Given the description of an element on the screen output the (x, y) to click on. 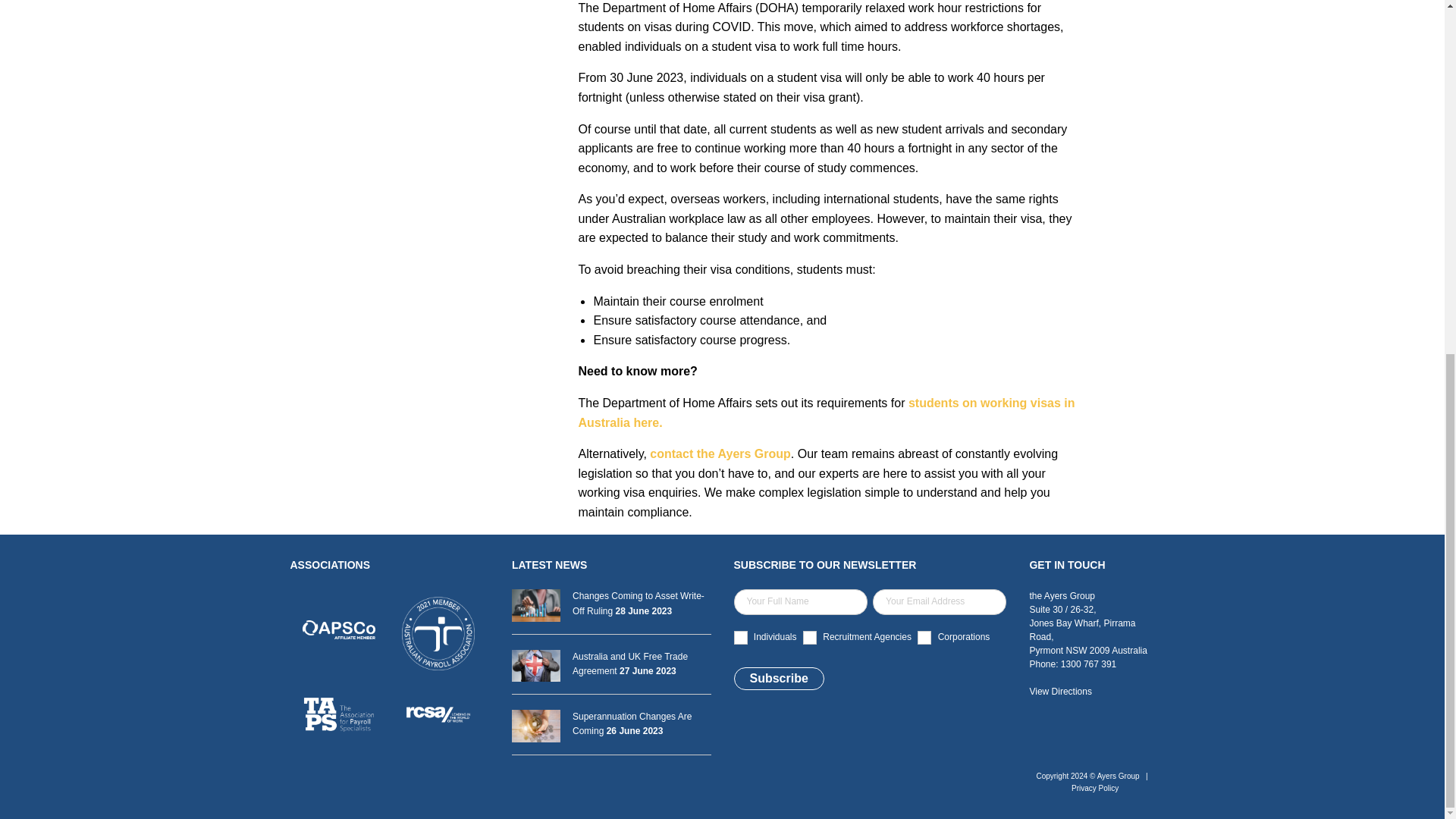
Individuals (740, 637)
Superannuation Changes Are Coming (611, 724)
Corporations (924, 637)
Changes Coming to Asset Write-Off Ruling (611, 603)
Recruitment Agencies (809, 637)
Australia and UK Free Trade Agreement (611, 664)
